Given the description of an element on the screen output the (x, y) to click on. 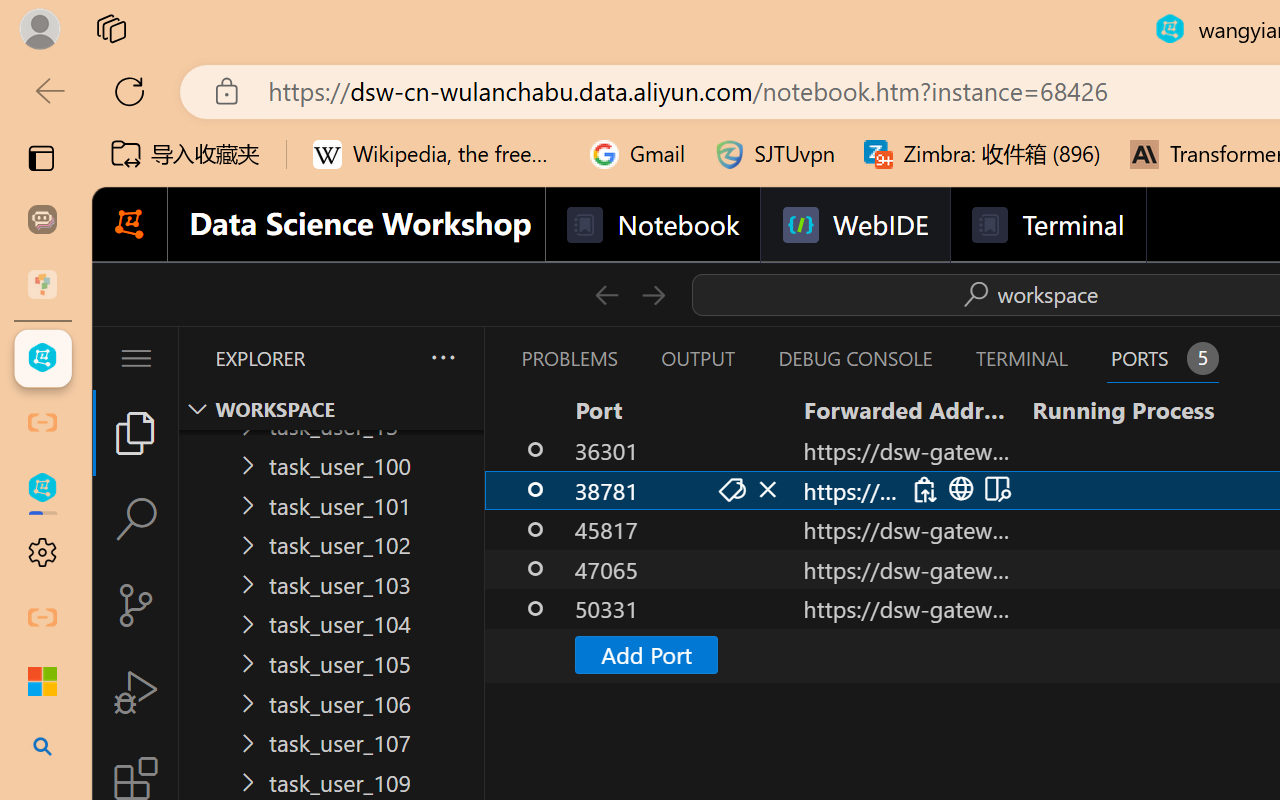
Notebook (652, 225)
Search (Ctrl+Shift+F) (135, 519)
Class: menubar compact overflow-menu-only (135, 358)
Run and Debug (Ctrl+Shift+D) (135, 692)
Add Port (645, 654)
Debug Console (Ctrl+Shift+Y) (854, 358)
Set Port Label (F2) (730, 489)
Microsoft security help and learning (42, 681)
